Given the description of an element on the screen output the (x, y) to click on. 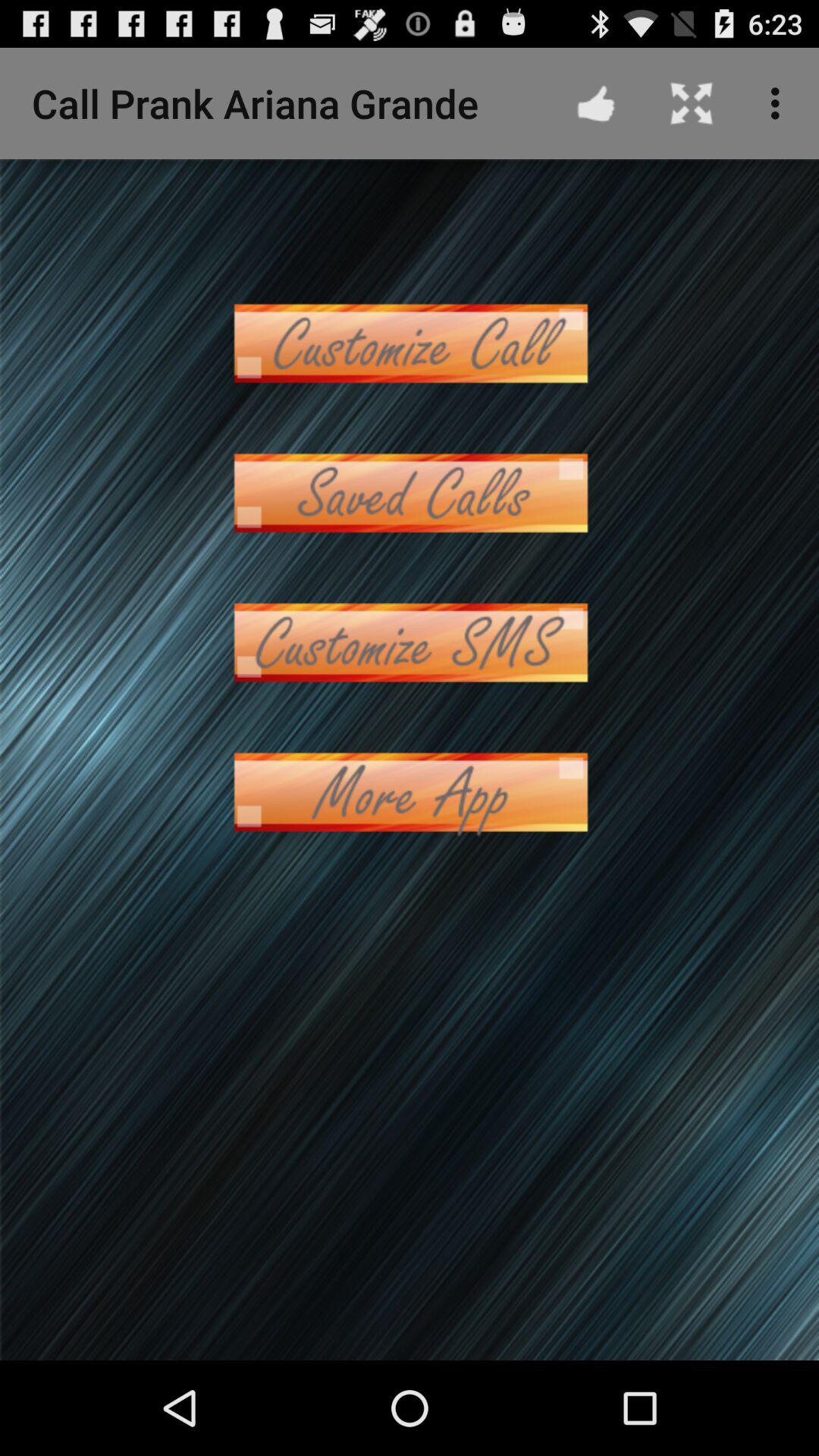
open icon next to call prank ariana icon (595, 103)
